Given the description of an element on the screen output the (x, y) to click on. 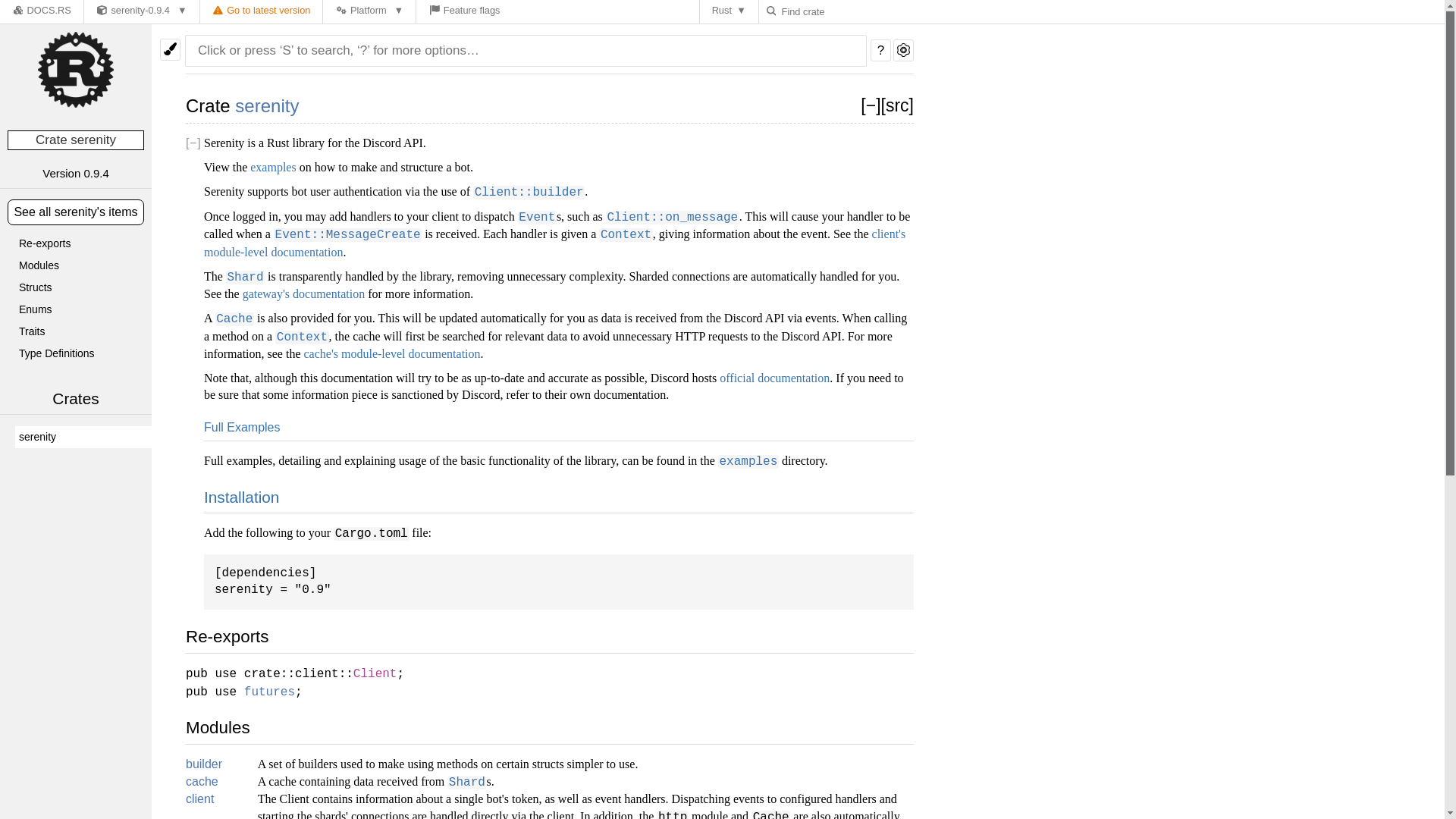
Platform (368, 11)
struct serenity::client::Client (375, 673)
DOCS.RS (41, 11)
collapse all docs (870, 105)
goto source code (897, 105)
serenity::cache mod (202, 780)
serenity::builder mod (204, 763)
serenity::client mod (200, 798)
Go to latest version (261, 11)
Serenity is a Rust library for the Discord API. (82, 436)
mod futures (269, 692)
Docs.rs (17, 9)
serenity-0.9.4 (141, 11)
Feature flags (464, 11)
